Given the description of an element on the screen output the (x, y) to click on. 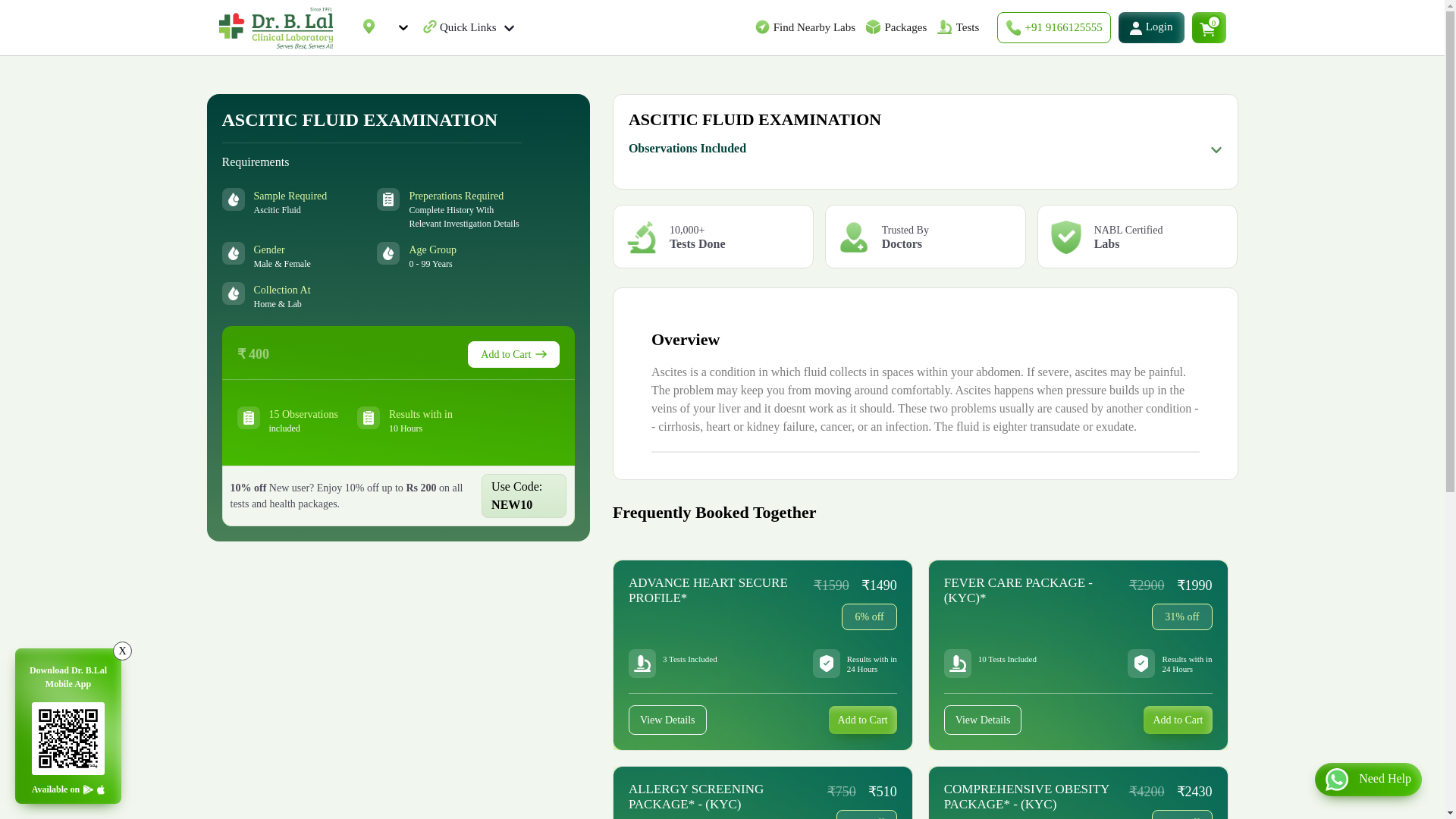
Packages (904, 26)
Find Nearby Labs (814, 26)
0 (1208, 27)
Tests (966, 26)
Login (1151, 27)
Quick Links (476, 26)
